Given the description of an element on the screen output the (x, y) to click on. 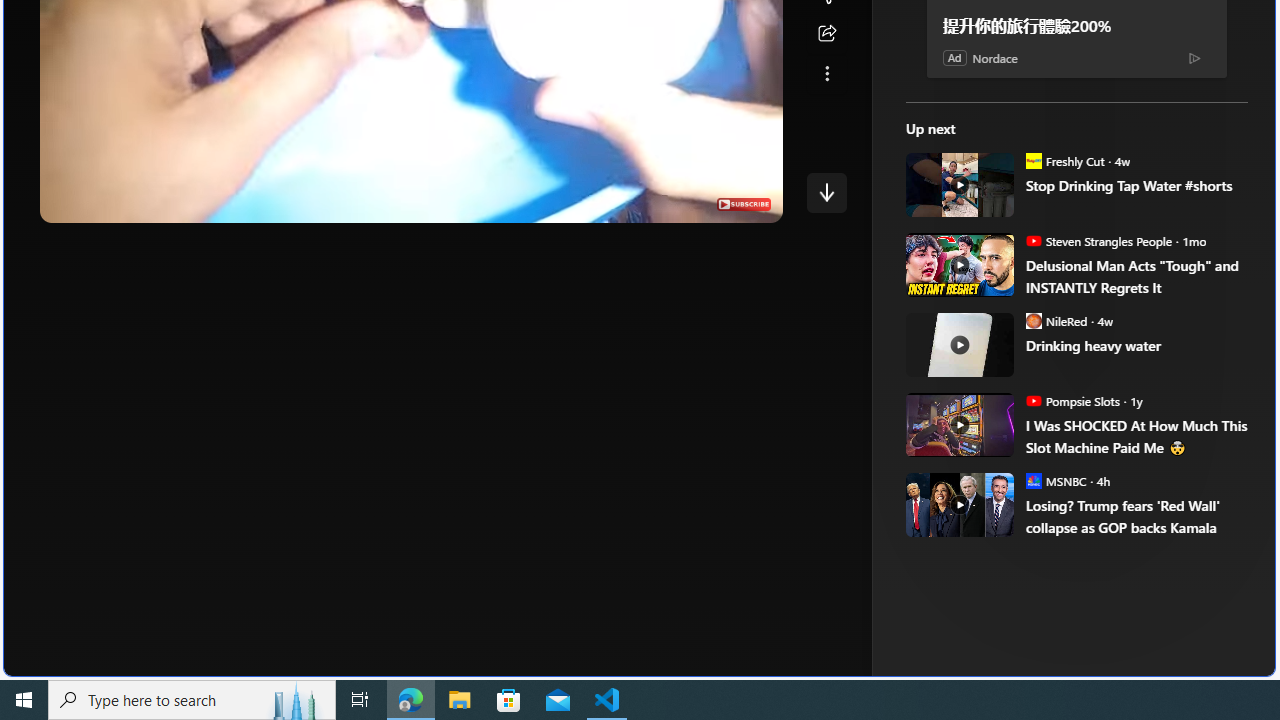
Steven Strangles People Steven Strangles People (1098, 240)
MSNBC MSNBC (1055, 480)
Class: ytp-subtitles-button-icon (603, 202)
Stop Drinking Tap Water #shorts (958, 183)
Freshly Cut (1033, 160)
Settings (644, 202)
Ad Choice (1193, 57)
Freshly Cut Freshly Cut (1064, 160)
Full screen (f) (750, 202)
NileRed NileRed (1056, 320)
Steven Strangles People (1033, 240)
